Given the description of an element on the screen output the (x, y) to click on. 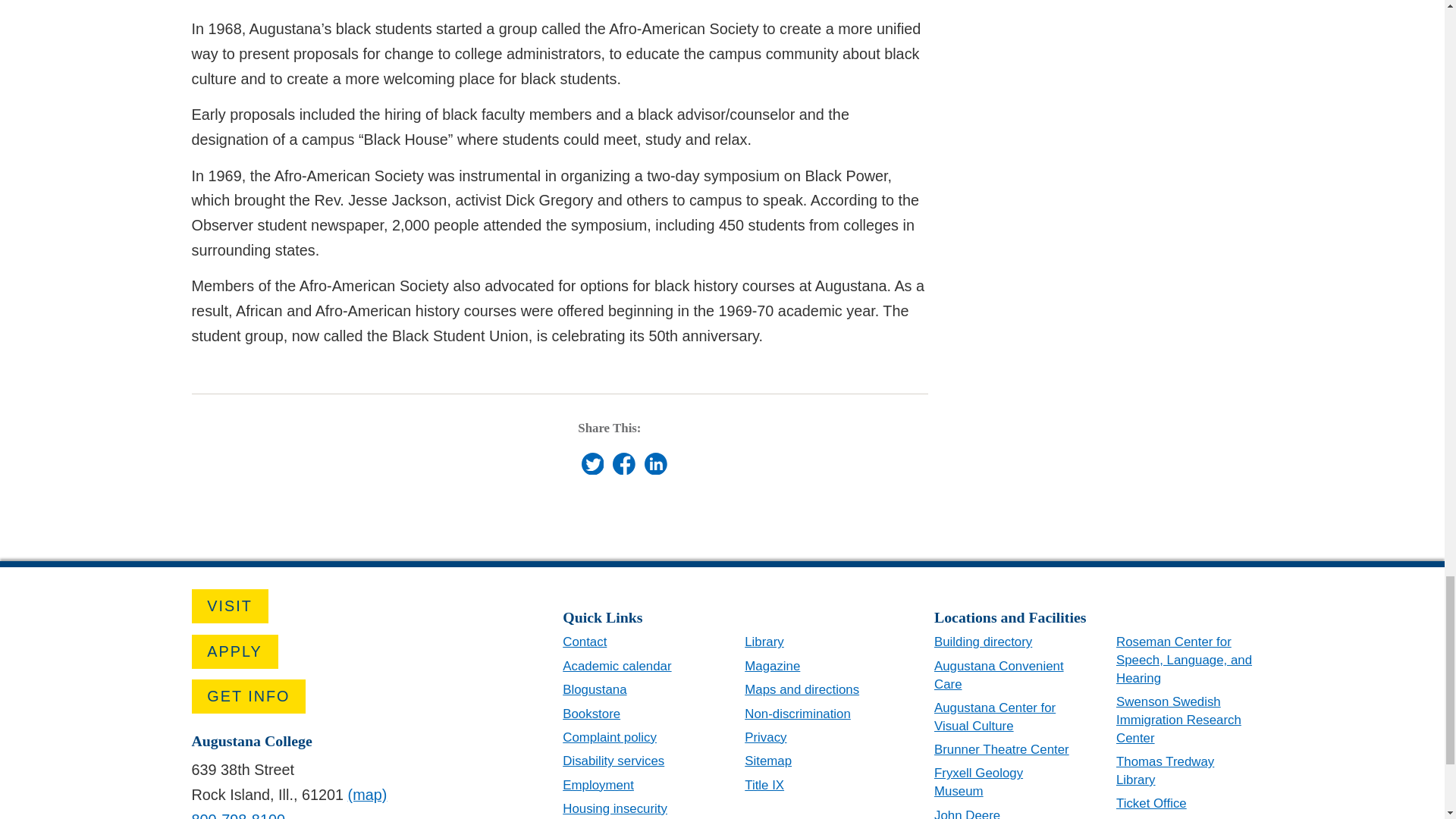
Facebook Icon Circle with Facebook's F (623, 463)
LinkedIn Round Icon with LinkedIn logo (655, 463)
Twitter Round icon with Twitter bird. (592, 463)
